Given the description of an element on the screen output the (x, y) to click on. 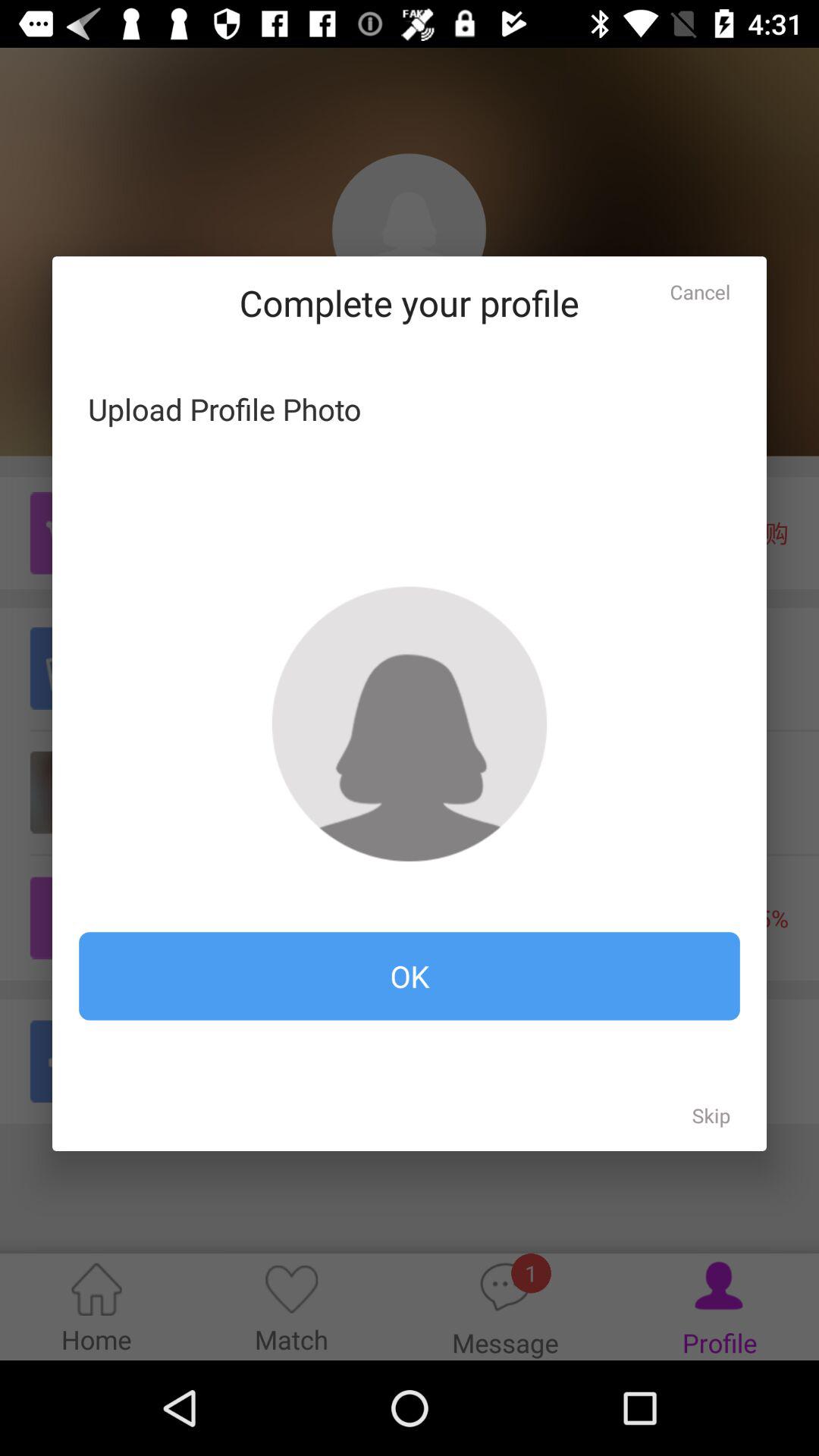
click the cancel at the top right corner (700, 291)
